Given the description of an element on the screen output the (x, y) to click on. 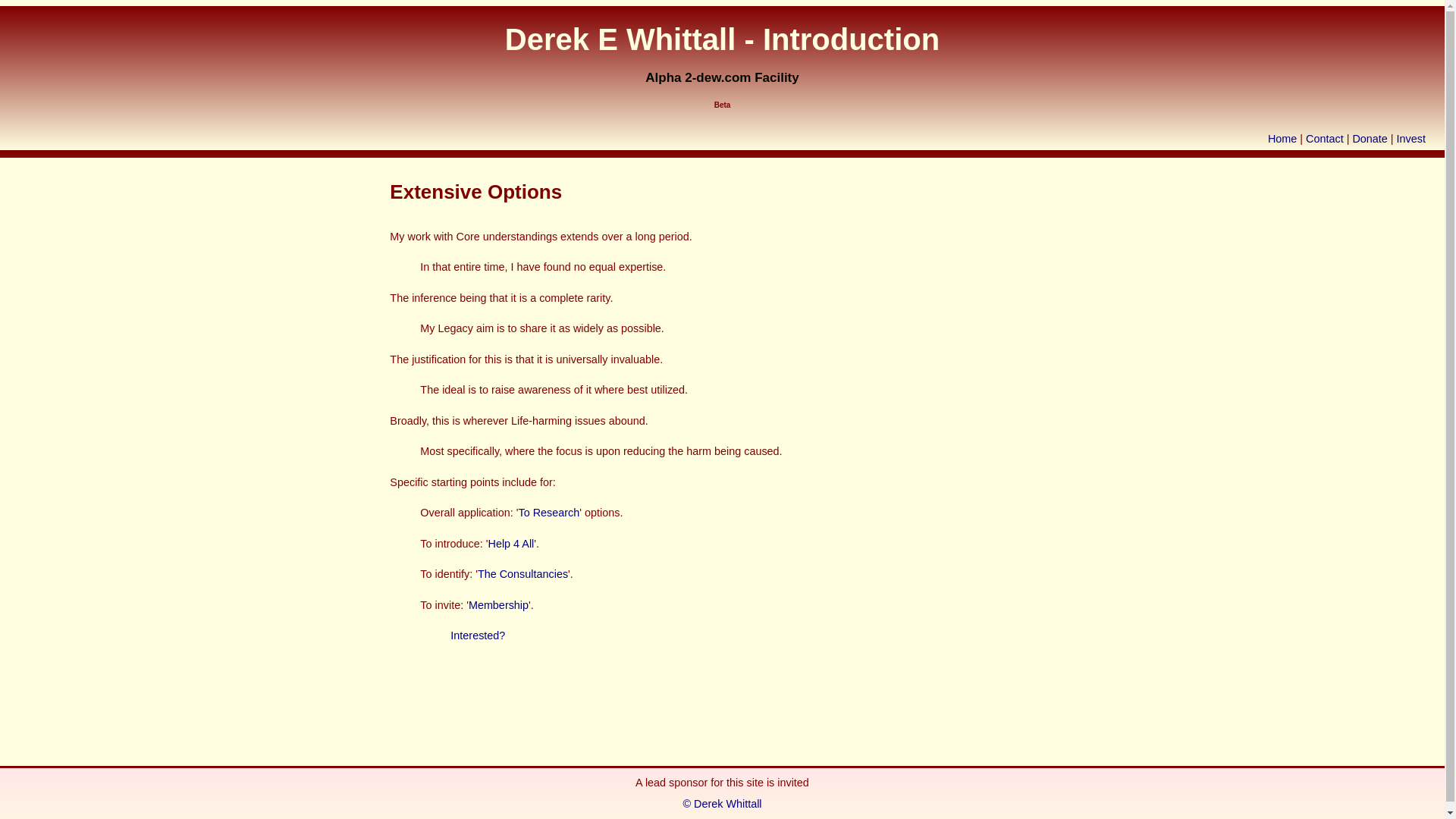
Contact Element type: text (1324, 138)
Home Element type: text (1281, 138)
To Research Element type: text (548, 512)
Invest Element type: text (1410, 138)
Membership Element type: text (498, 605)
The Consultancies Element type: text (522, 573)
Donate Element type: text (1369, 138)
Help 4 All Element type: text (510, 543)
Interested? Element type: text (477, 635)
